Given the description of an element on the screen output the (x, y) to click on. 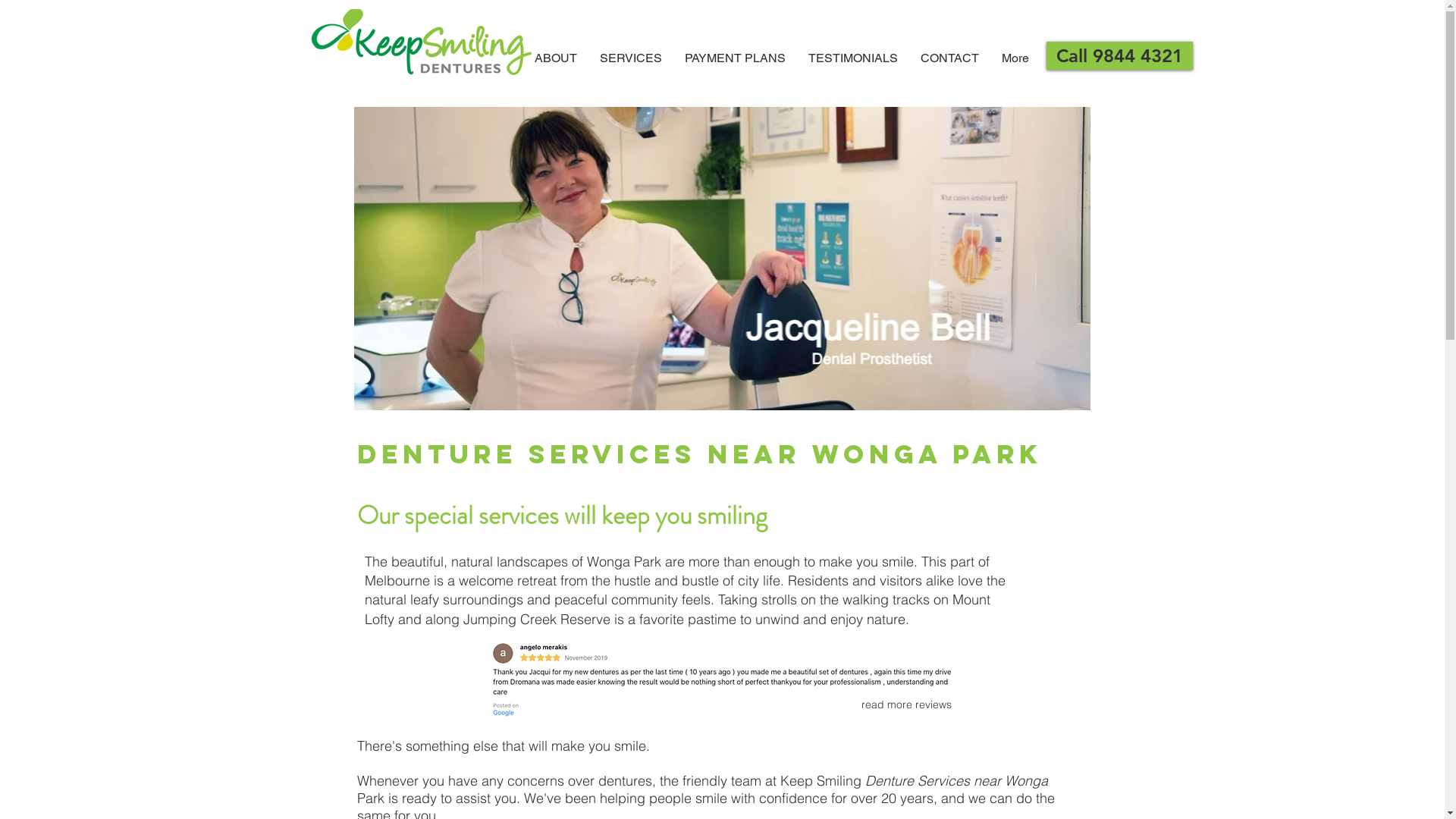
PAYMENT PLANS Element type: text (735, 58)
TESTIMONIALS Element type: text (853, 58)
Call 9844 4321 Element type: text (1119, 55)
CONTACT Element type: text (949, 58)
ABOUT Element type: text (555, 58)
read more reviews Element type: text (906, 704)
